Given the description of an element on the screen output the (x, y) to click on. 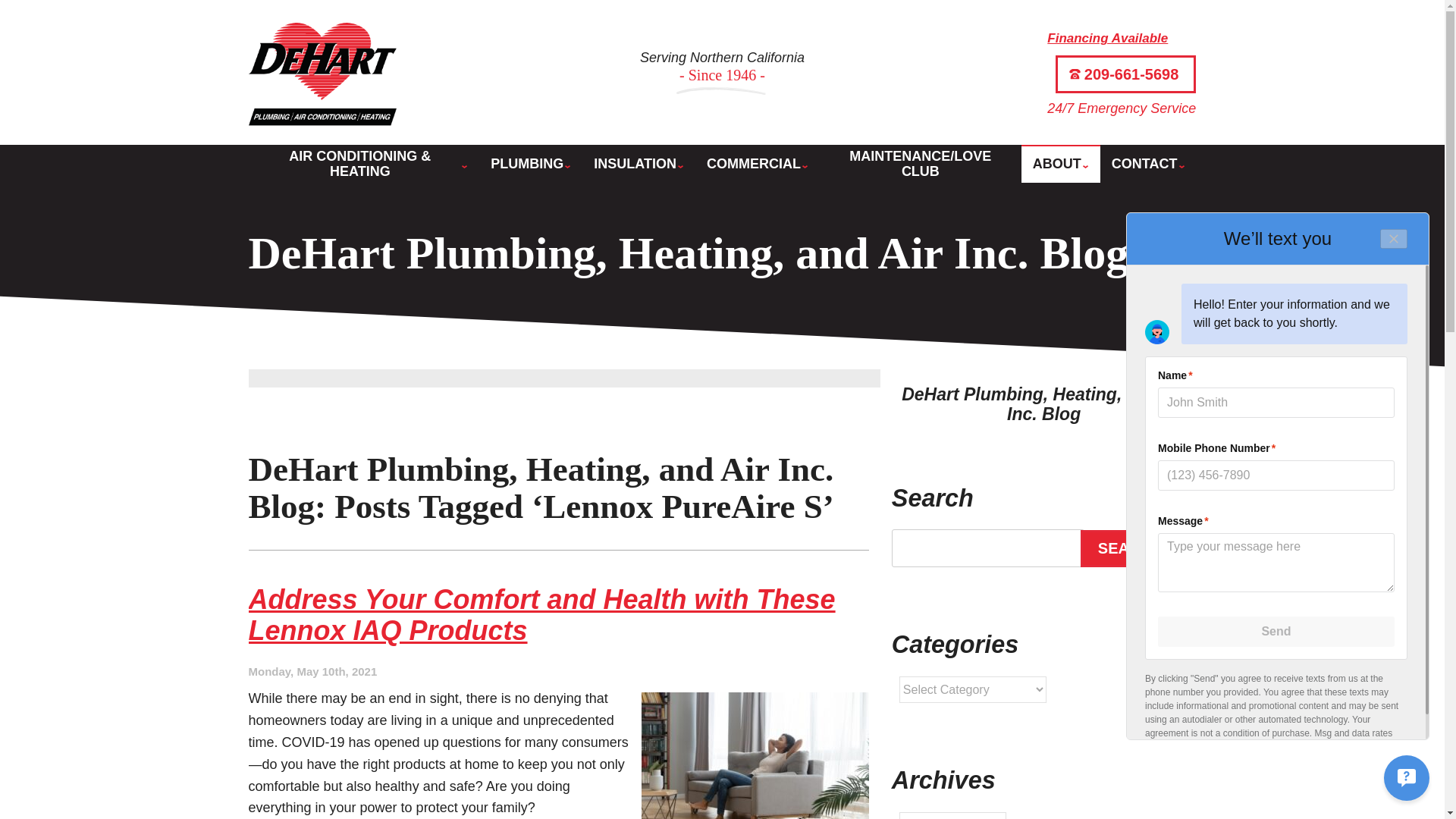
Financing Available (1106, 38)
PLUMBING (530, 163)
209-661-5698 (1125, 74)
